Given the description of an element on the screen output the (x, y) to click on. 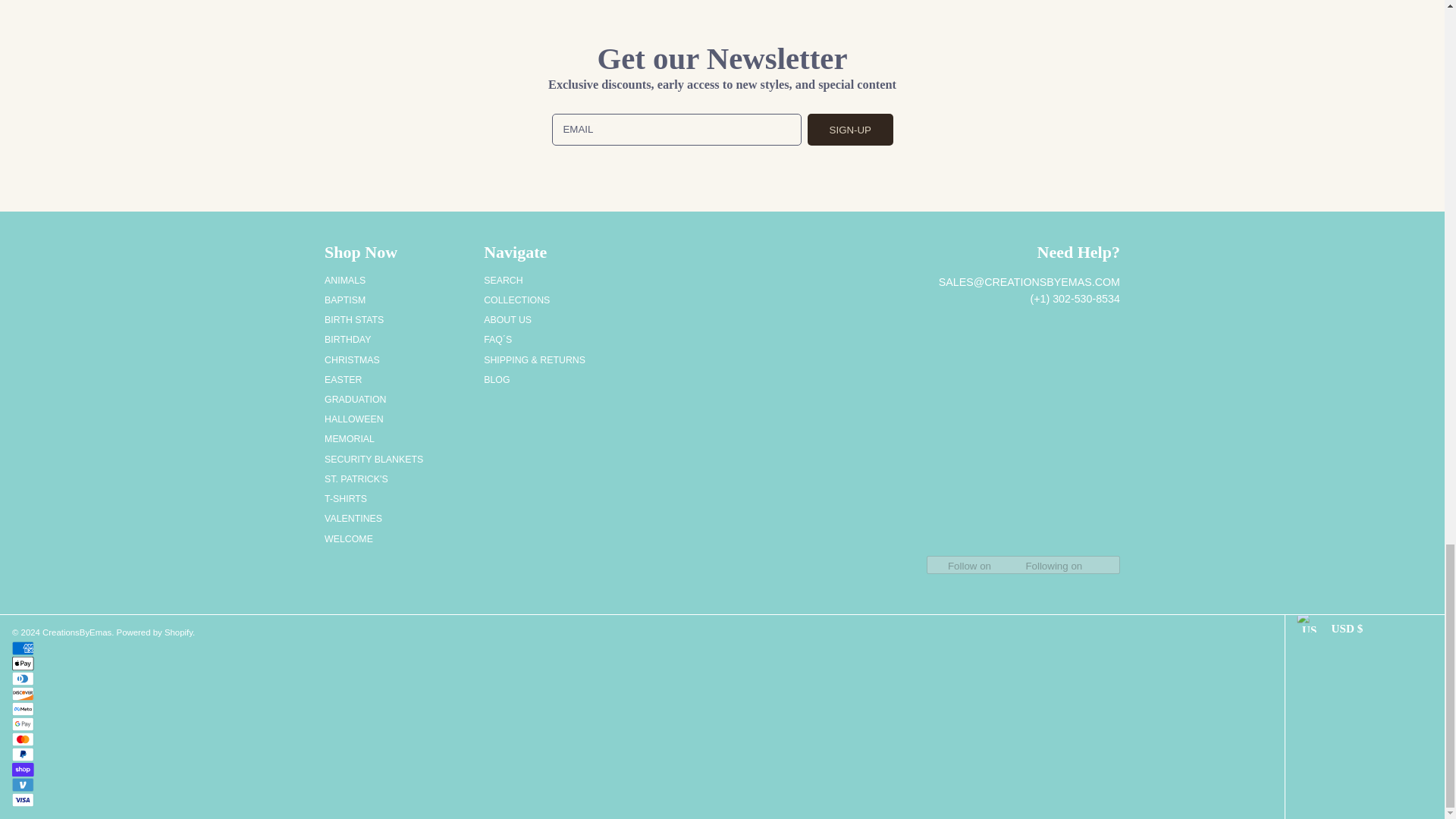
Venmo (22, 784)
Mastercard (22, 739)
Diners Club (22, 678)
PayPal (22, 754)
Meta Pay (22, 708)
American Express (22, 648)
Apple Pay (22, 663)
Google Pay (22, 724)
Discover (22, 694)
Visa (22, 799)
Shop Pay (22, 769)
